Given the description of an element on the screen output the (x, y) to click on. 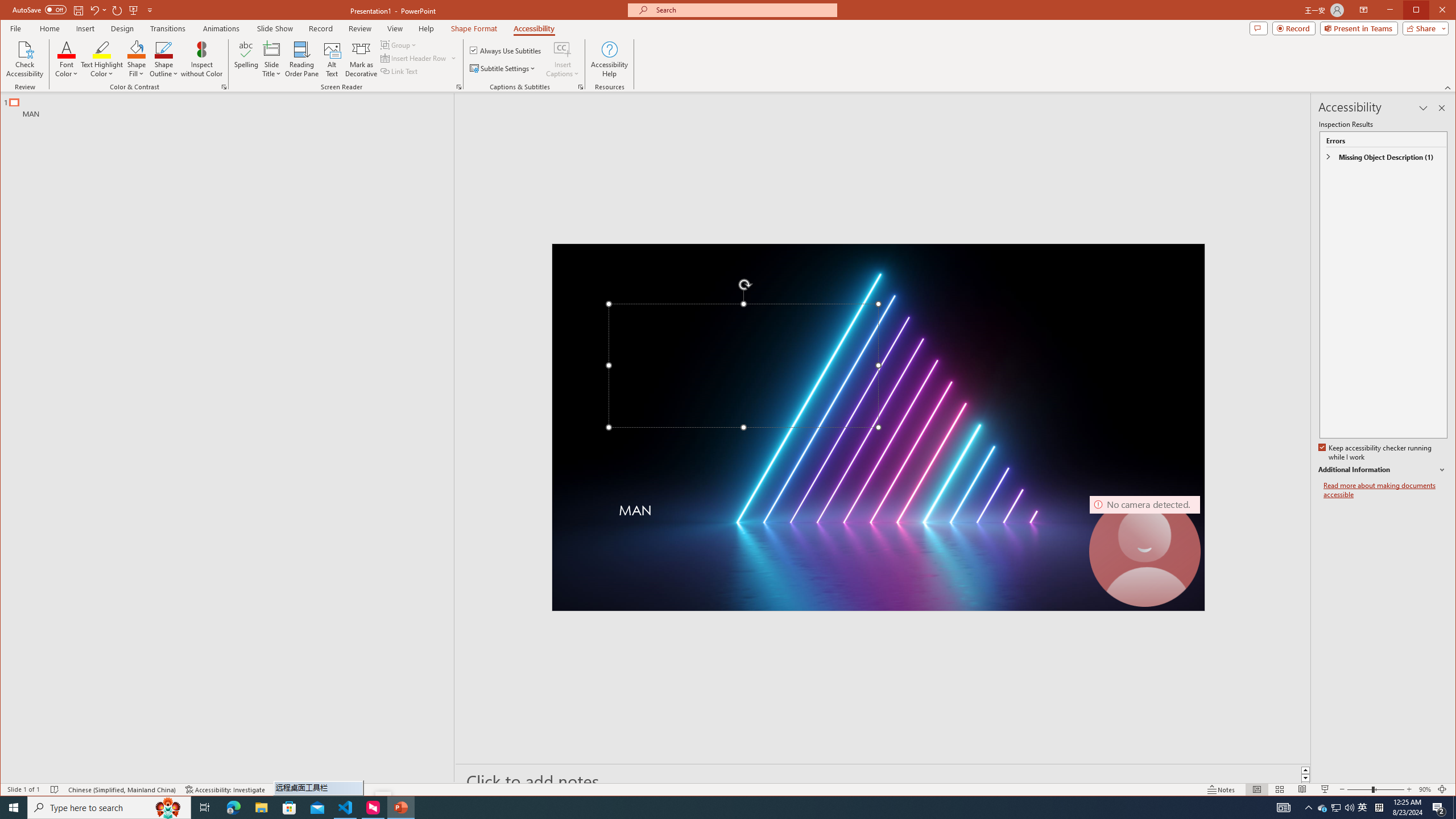
Inspect without Color (201, 59)
Shape Outline Blue, Accent 1 (163, 48)
Camera 7, No camera detected. (1145, 550)
Read more about making documents accessible (1385, 489)
Subtitle TextBox (850, 522)
Neon laser lights aligned to form a triangle (877, 427)
